Given the description of an element on the screen output the (x, y) to click on. 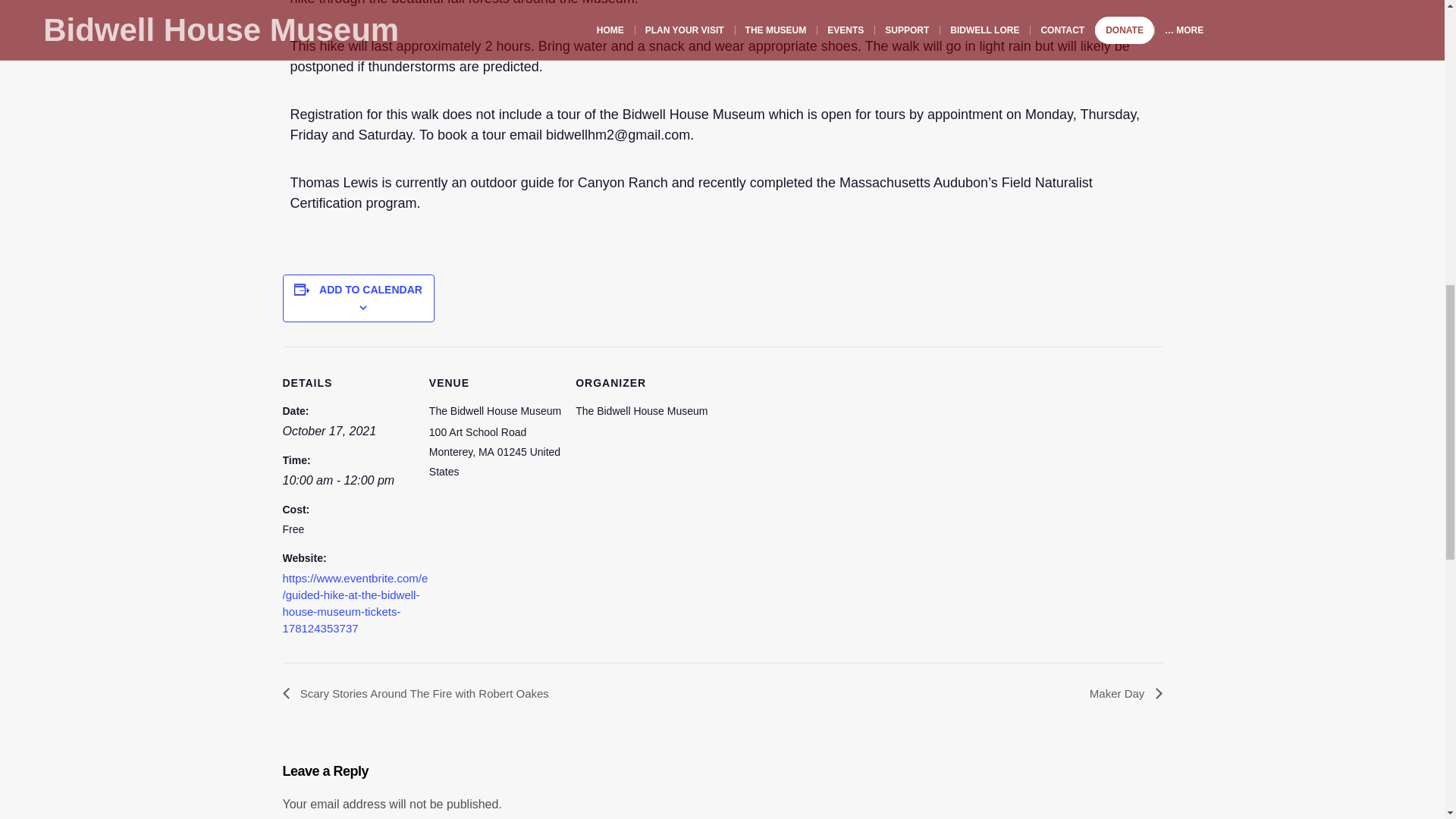
2021-10-17 (355, 480)
2021-10-17 (328, 431)
ADD TO CALENDAR (370, 289)
